Given the description of an element on the screen output the (x, y) to click on. 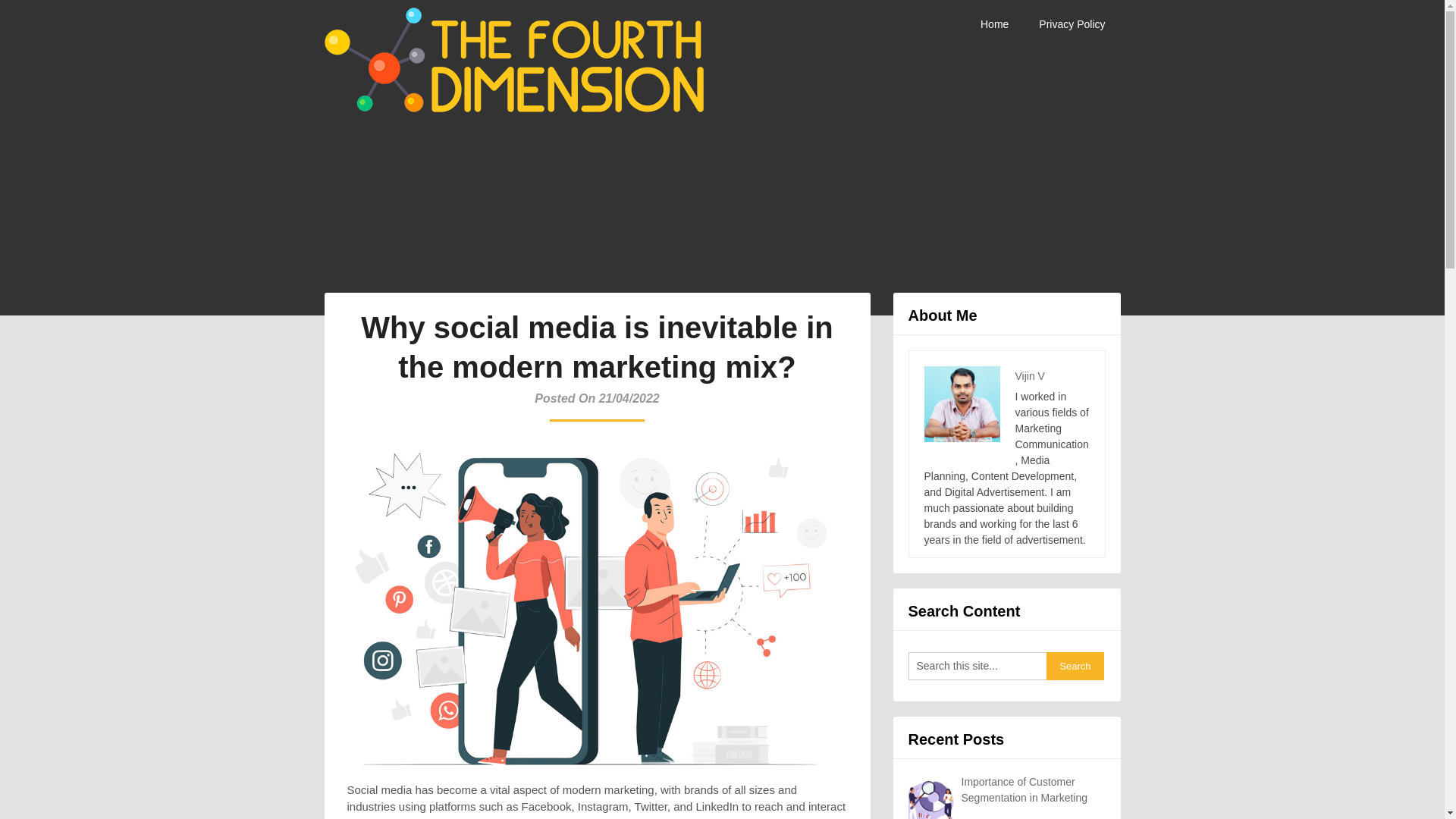
Privacy Policy (1071, 24)
Importance of Customer Segmentation in Marketing (1023, 789)
Search (1075, 665)
Vijin V (1028, 375)
Search this site... (977, 665)
Search (1075, 665)
